Given the description of an element on the screen output the (x, y) to click on. 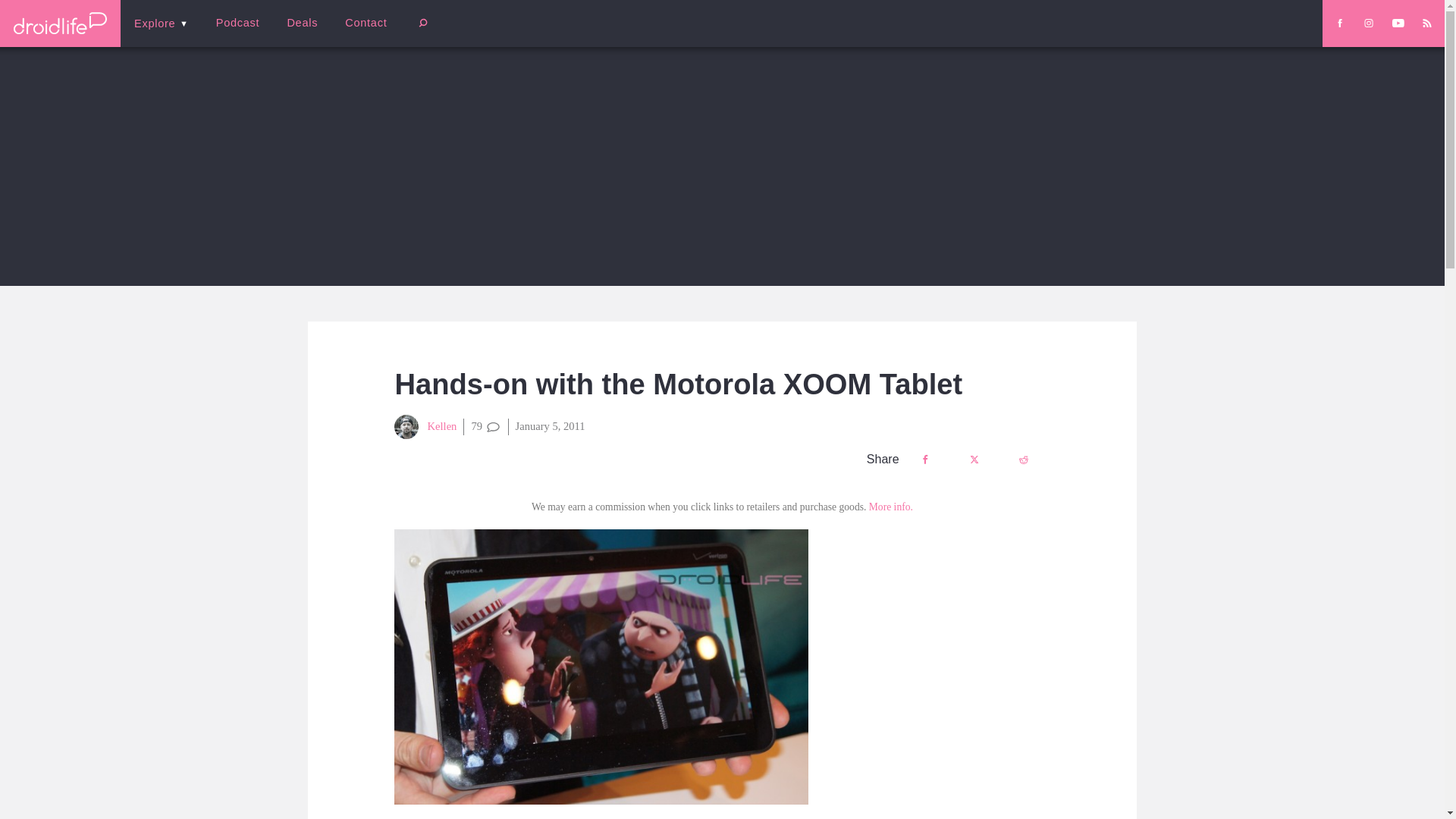
Deals (302, 23)
Beginners' Guide (360, 33)
Droid Life on YouTube (1398, 23)
Podcast (237, 23)
Kellen (425, 426)
Droid Life on Instagram (1368, 23)
Contact (365, 23)
SONY DSC (601, 666)
Droid Life RSS (1426, 23)
Droid Life on Facebook (1339, 23)
